Given the description of an element on the screen output the (x, y) to click on. 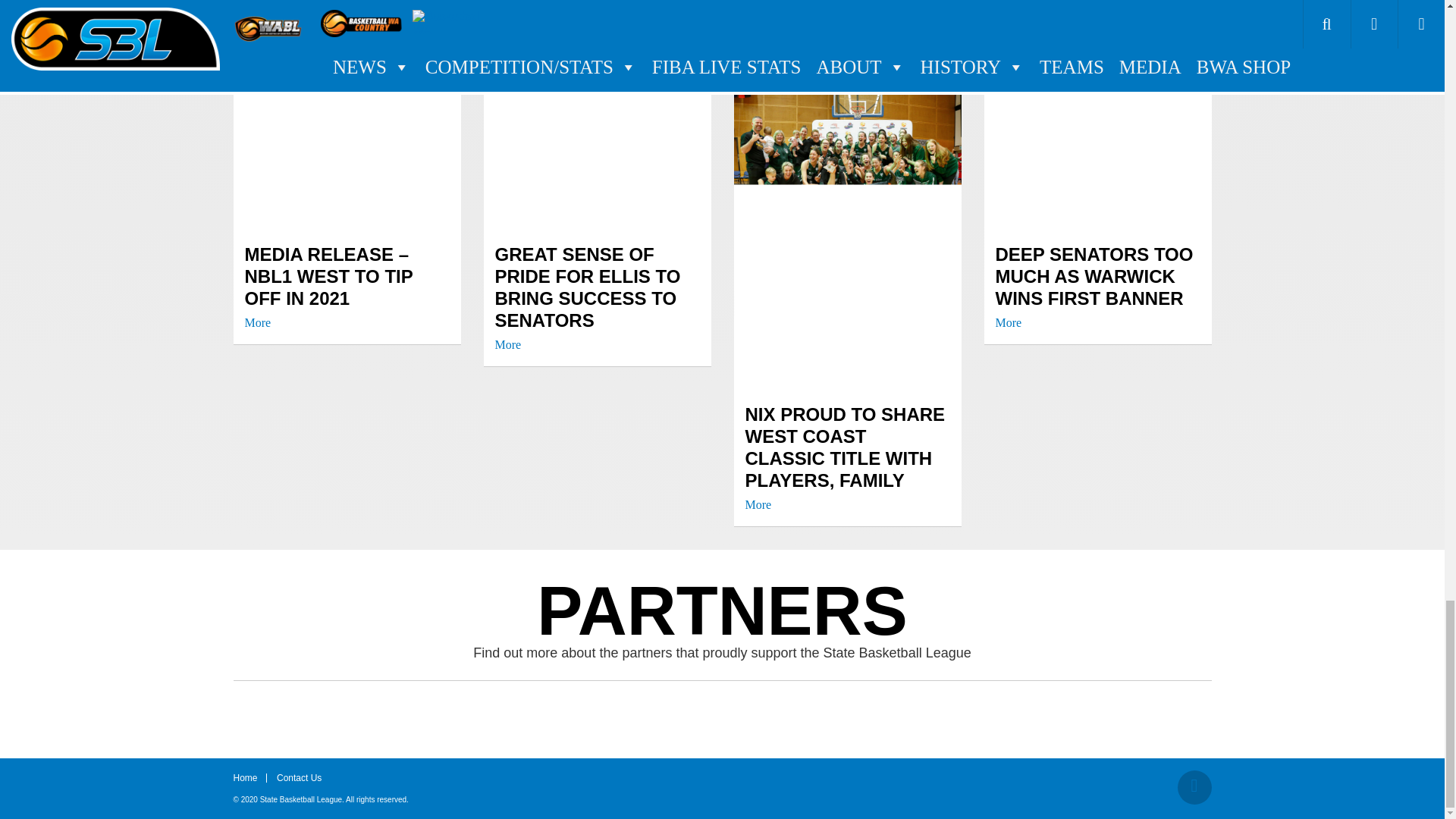
GREAT SENSE OF PRIDE FOR ELLIS TO BRING SUCCESS TO SENATORS (596, 297)
More (257, 322)
more (257, 322)
Great sense of pride for Ellis to bring success to Senators (596, 297)
